Given the description of an element on the screen output the (x, y) to click on. 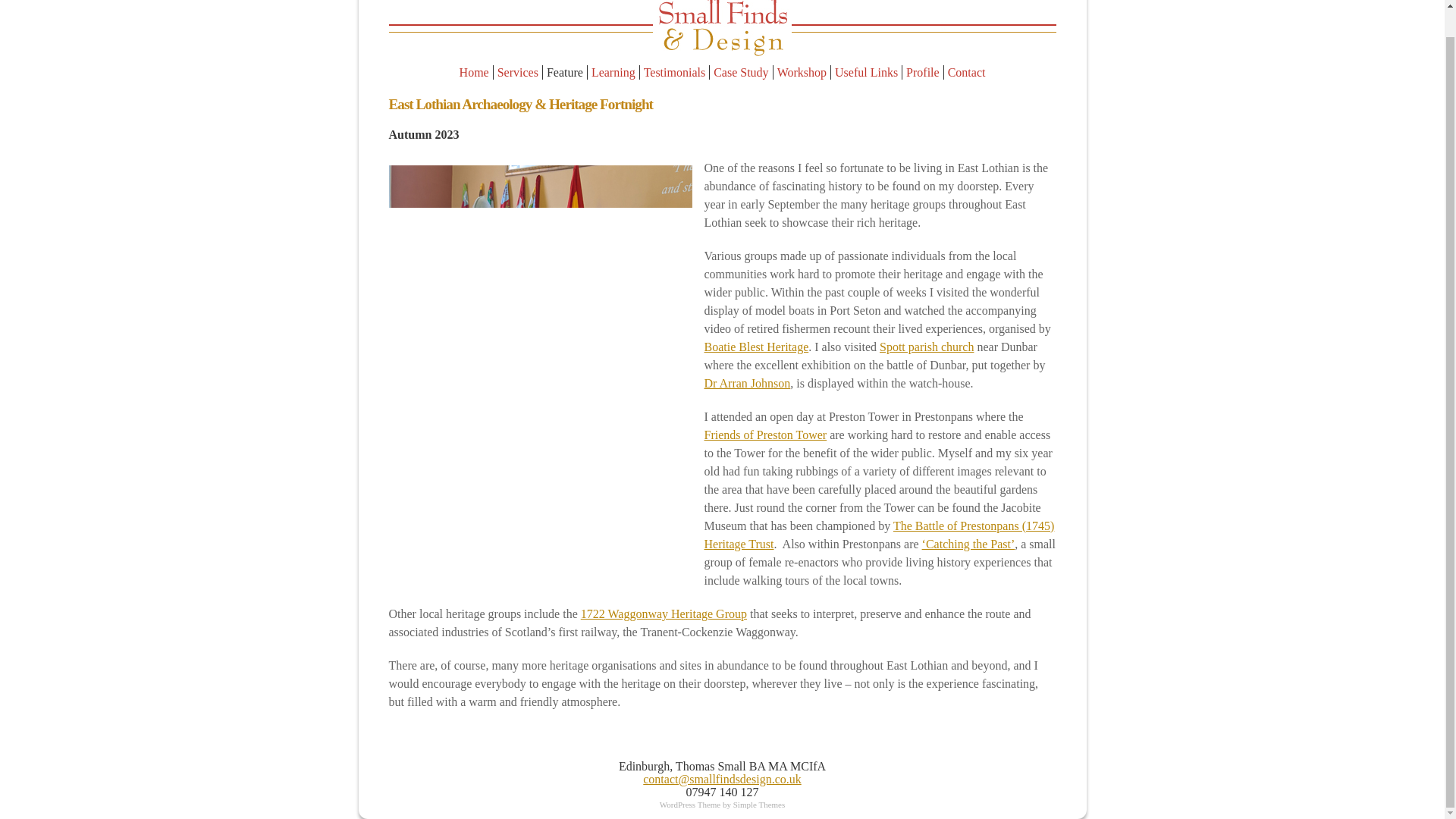
Feature (565, 72)
Simple WordPress Themes (759, 804)
Home (474, 72)
Services (518, 72)
